Given the description of an element on the screen output the (x, y) to click on. 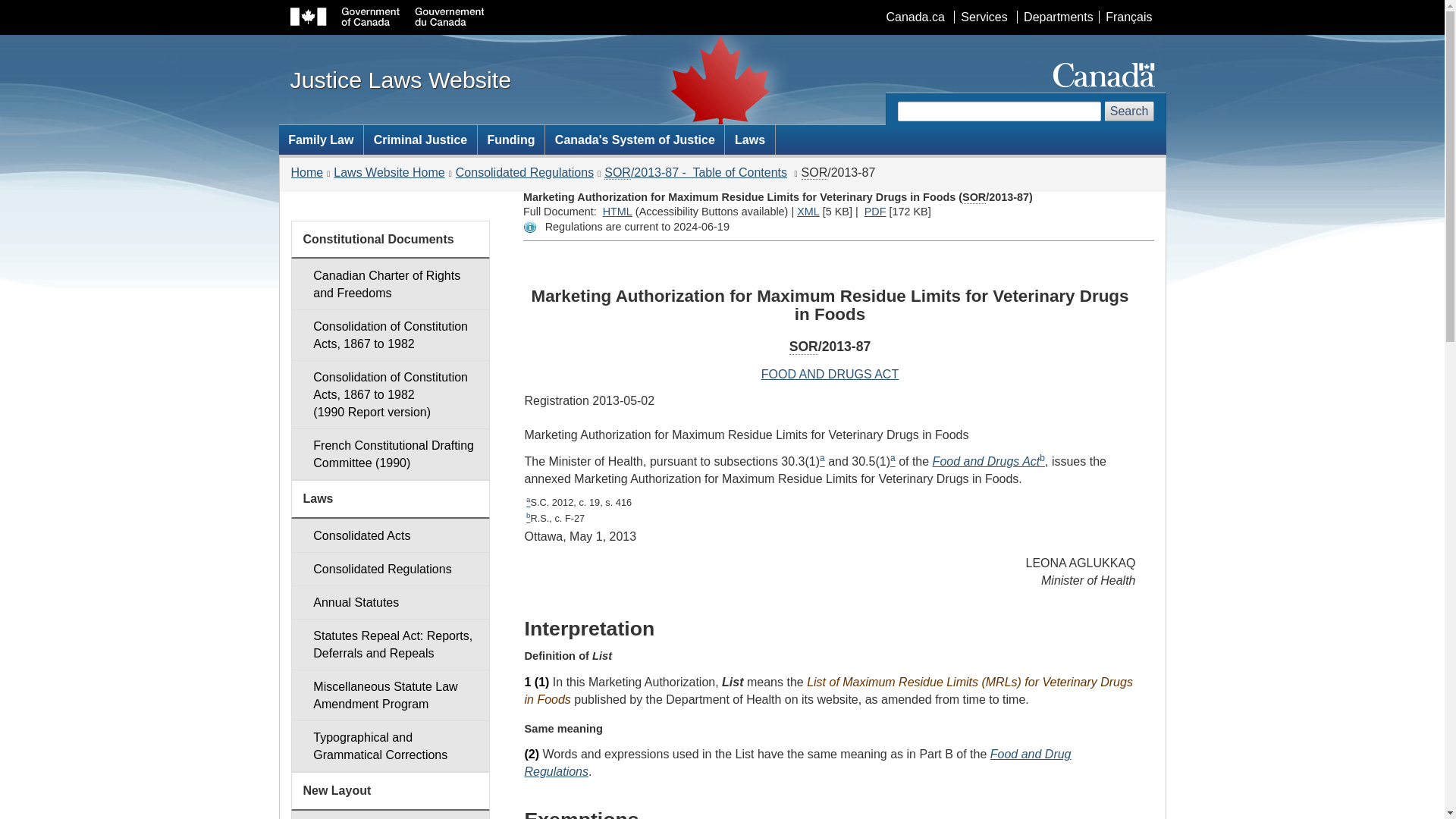
Laws Website Home (388, 172)
Statutory Orders and Regulations (617, 172)
Family Law (321, 139)
Consolidated Regulations and Orders (390, 569)
Food and Drug Regulations (797, 762)
Consolidation of Constitution Acts, 1867 to 1982 (390, 335)
Home (307, 172)
Laws (749, 139)
Departments (1057, 16)
Canadian Charter of Rights and Freedoms (390, 284)
Funding (510, 139)
Search (1129, 111)
Statutory Orders and Regulations (815, 172)
Statutory Orders and Regulations (973, 196)
